Given the description of an element on the screen output the (x, y) to click on. 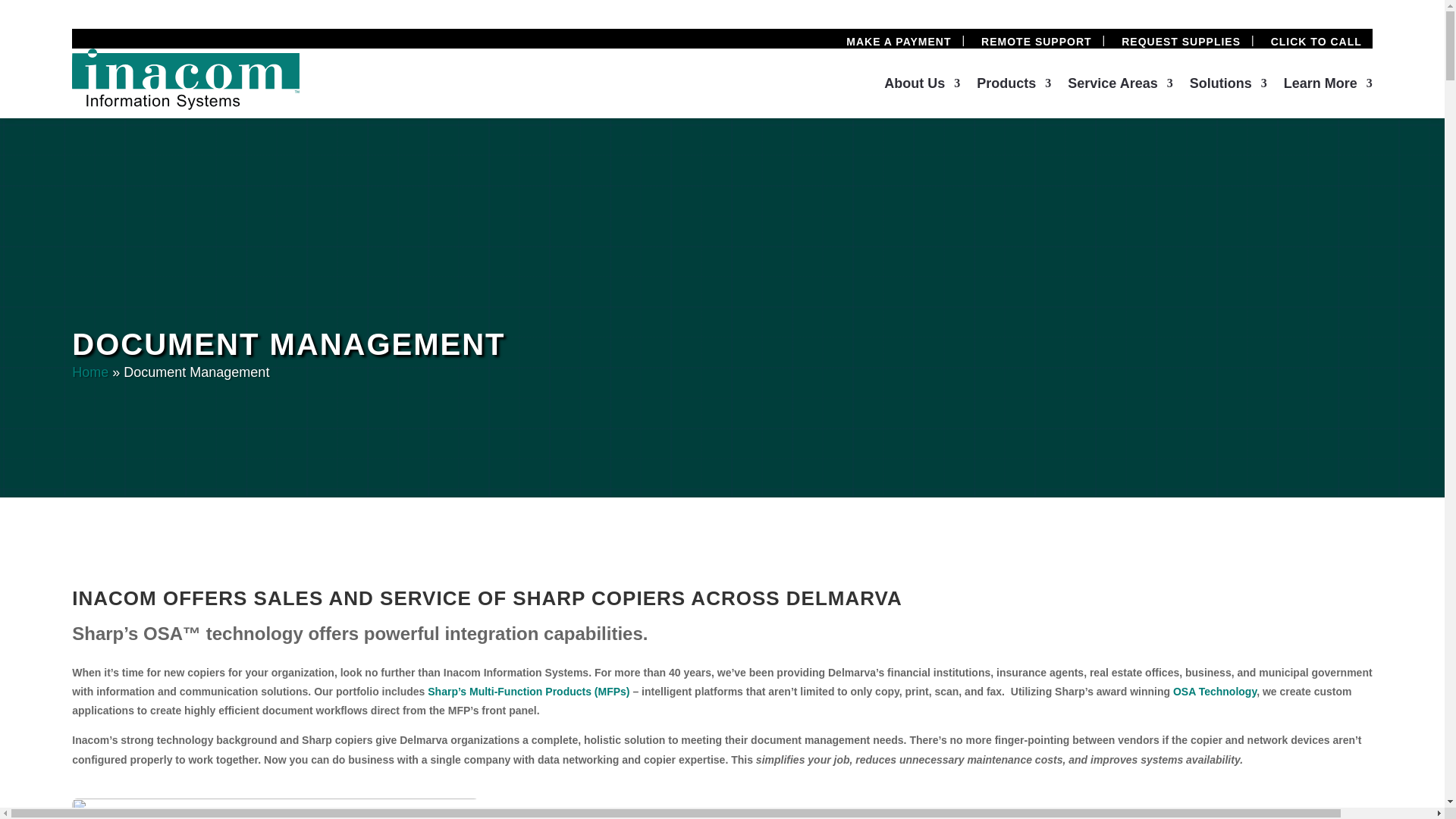
About Us (921, 86)
MAKE A PAYMENT (897, 41)
Personal loan calculation (435, 808)
Learn More (1328, 86)
Solutions (1227, 86)
REMOTE SUPPORT (1035, 41)
Products (1013, 86)
Sharp USA Copiers, Scanners, Printers (528, 691)
Service Areas (1119, 86)
